Given the description of an element on the screen output the (x, y) to click on. 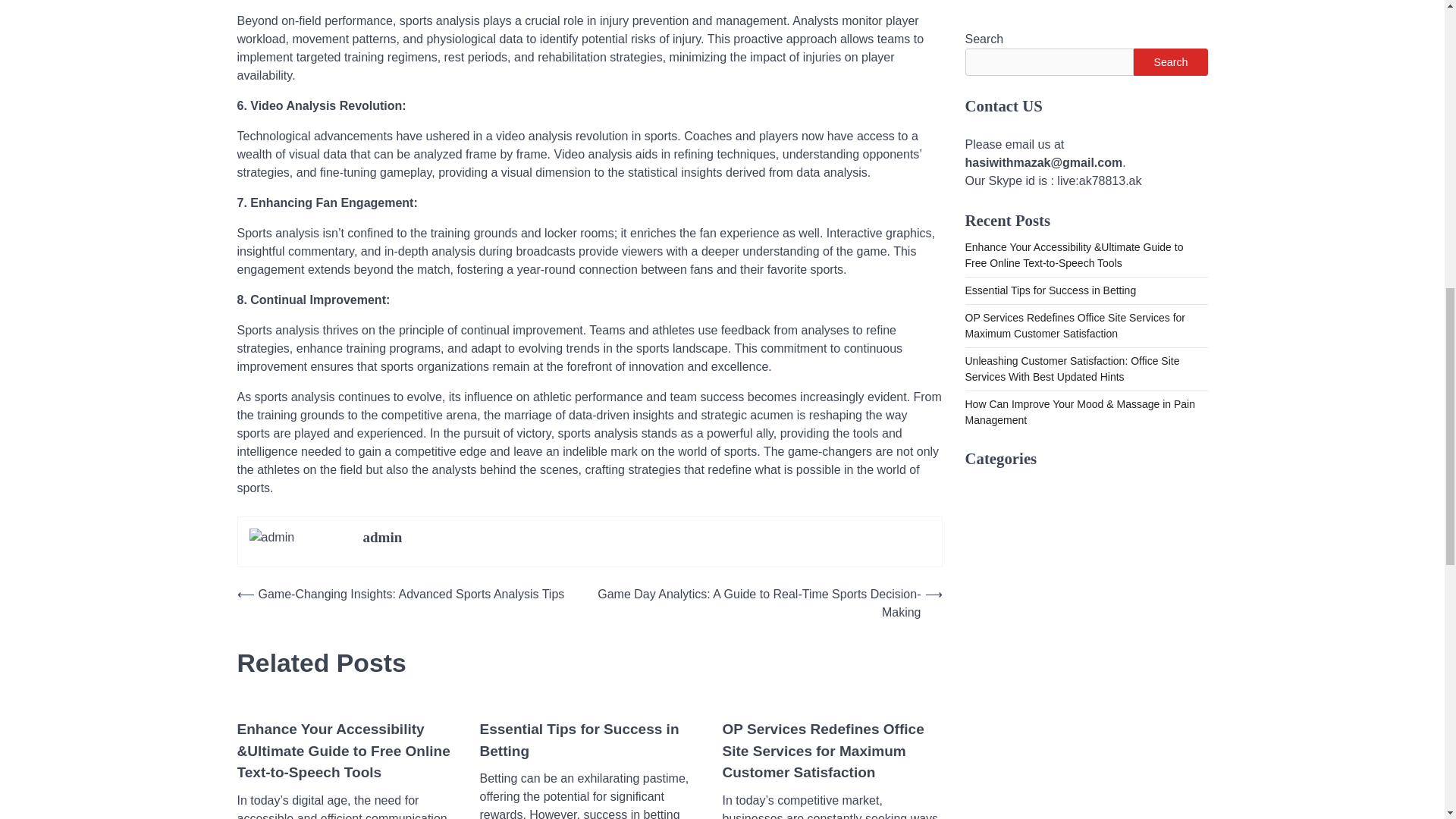
Essential Tips for Success in Betting (588, 740)
